Given the description of an element on the screen output the (x, y) to click on. 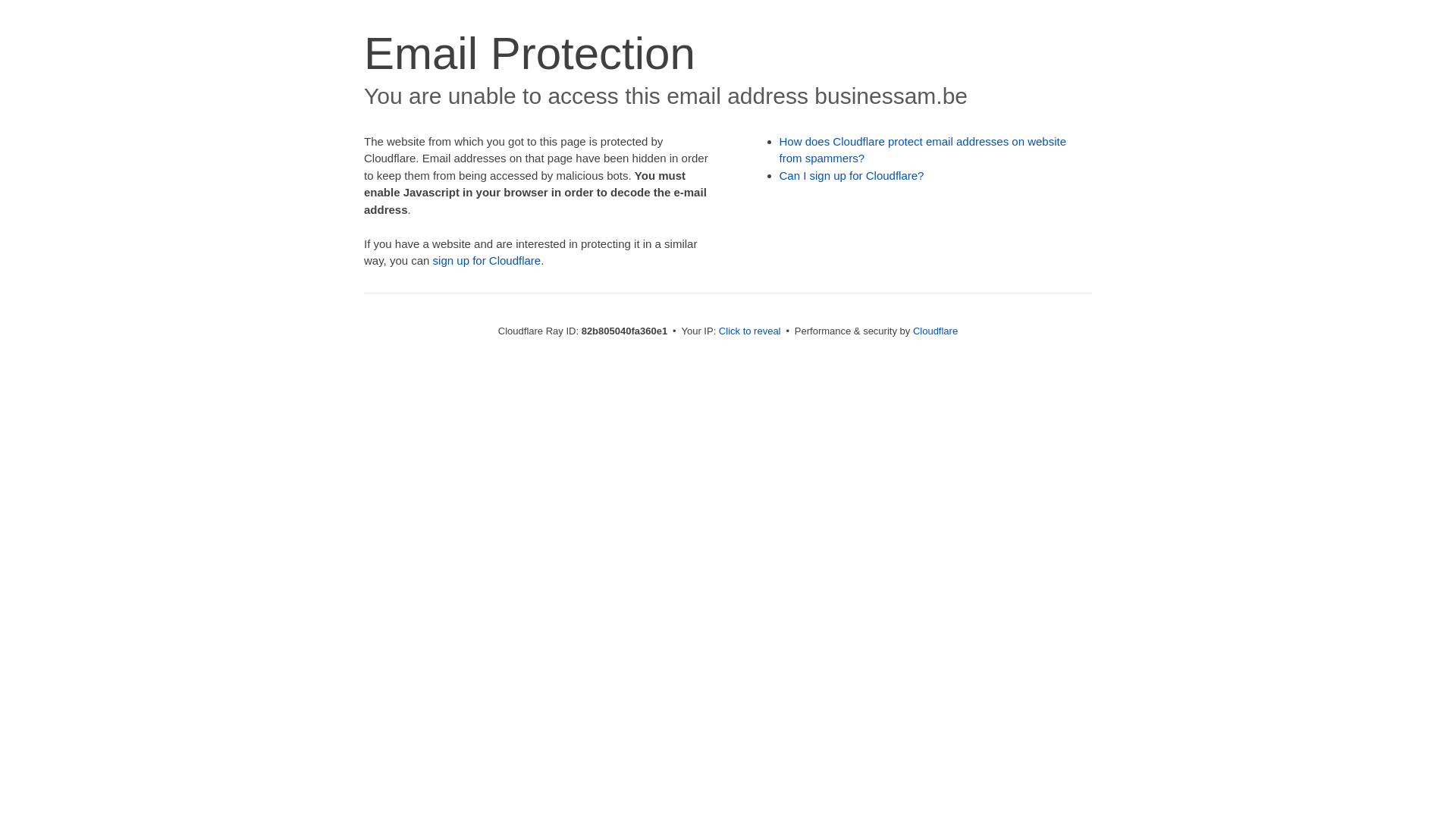
sign up for Cloudflare Element type: text (487, 260)
Cloudflare Element type: text (935, 330)
Can I sign up for Cloudflare? Element type: text (851, 175)
Click to reveal Element type: text (749, 330)
